Given the description of an element on the screen output the (x, y) to click on. 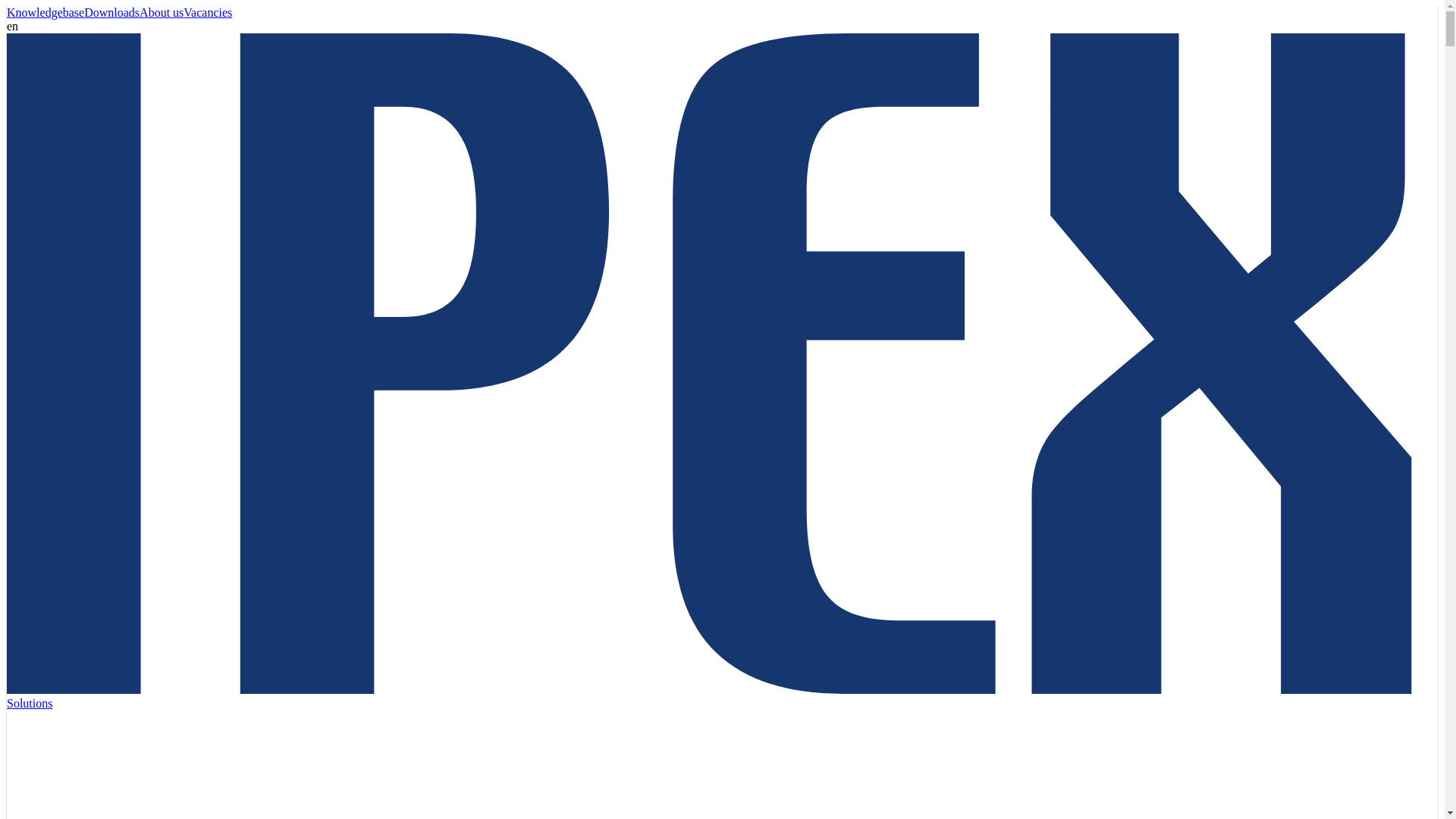
Downloads (111, 11)
About us (161, 11)
Knowledgebase (45, 11)
Vacancies (207, 11)
